Given the description of an element on the screen output the (x, y) to click on. 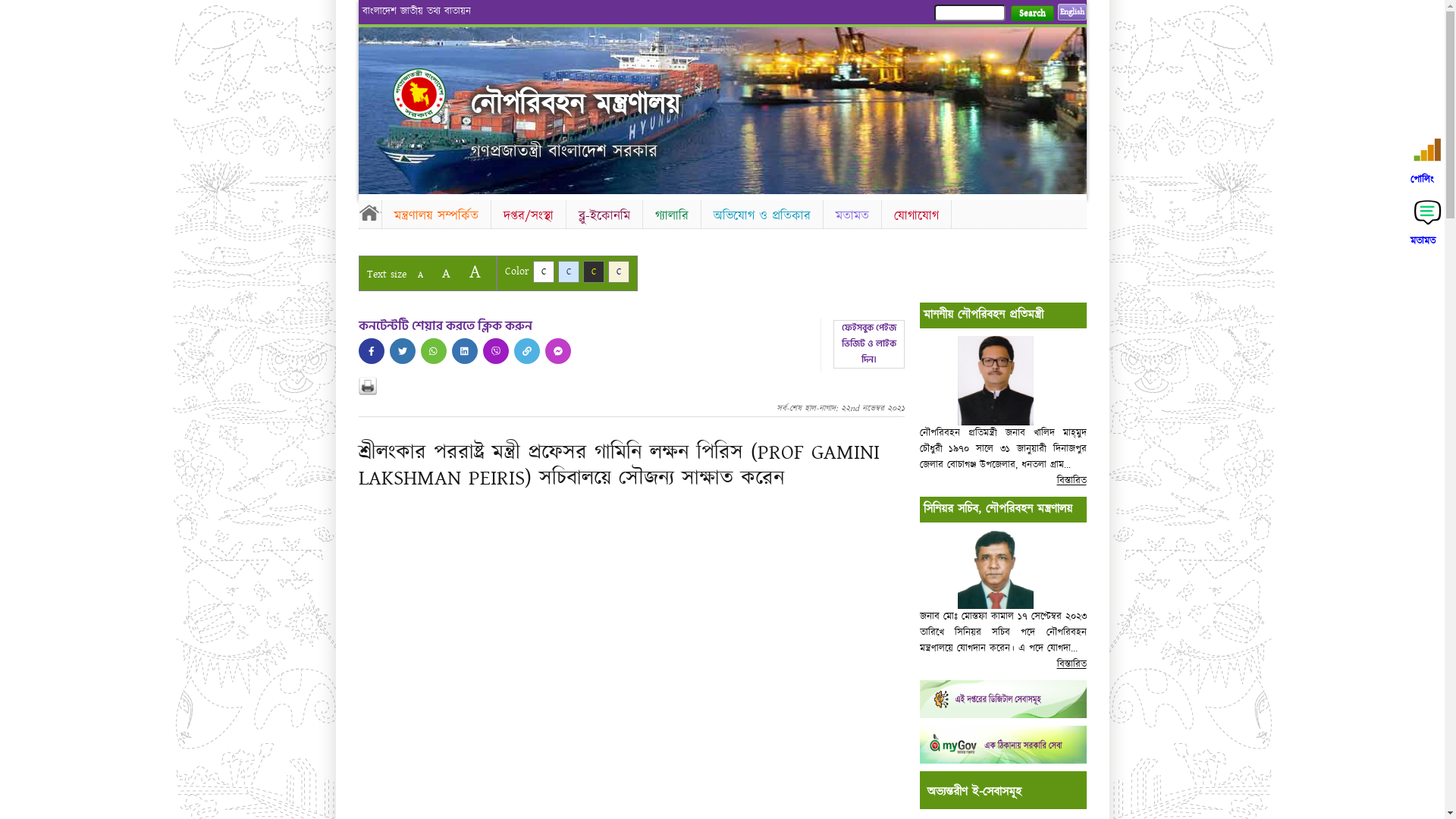
C Element type: text (542, 271)
A Element type: text (445, 273)
Home Element type: hover (368, 211)
A Element type: text (419, 274)
A Element type: text (474, 271)
Home Element type: hover (431, 93)
Search Element type: text (1031, 13)
C Element type: text (568, 271)
C Element type: text (592, 271)
C Element type: text (618, 271)
English Element type: text (1071, 11)
